Given the description of an element on the screen output the (x, y) to click on. 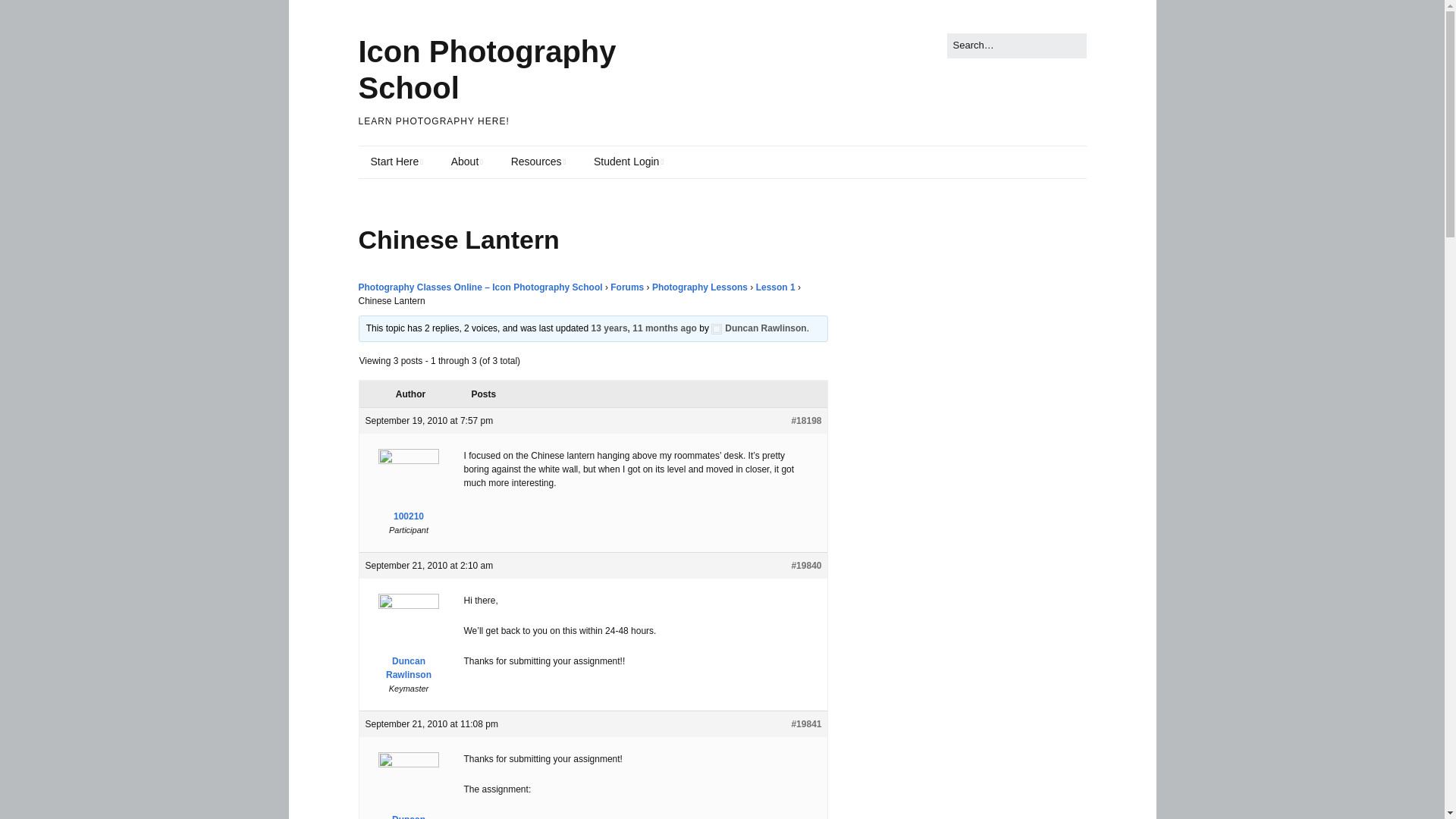
Icon Photography School (486, 69)
View Duncan Rawlinson's profile (408, 789)
Start Here (395, 162)
Duncan Rawlinson (758, 327)
13 years, 11 months ago (644, 327)
View 100210's profile (408, 489)
Photography Lessons (700, 286)
Duncan Rawlinson (408, 789)
100210 (408, 489)
Student Login (627, 162)
